Given the description of an element on the screen output the (x, y) to click on. 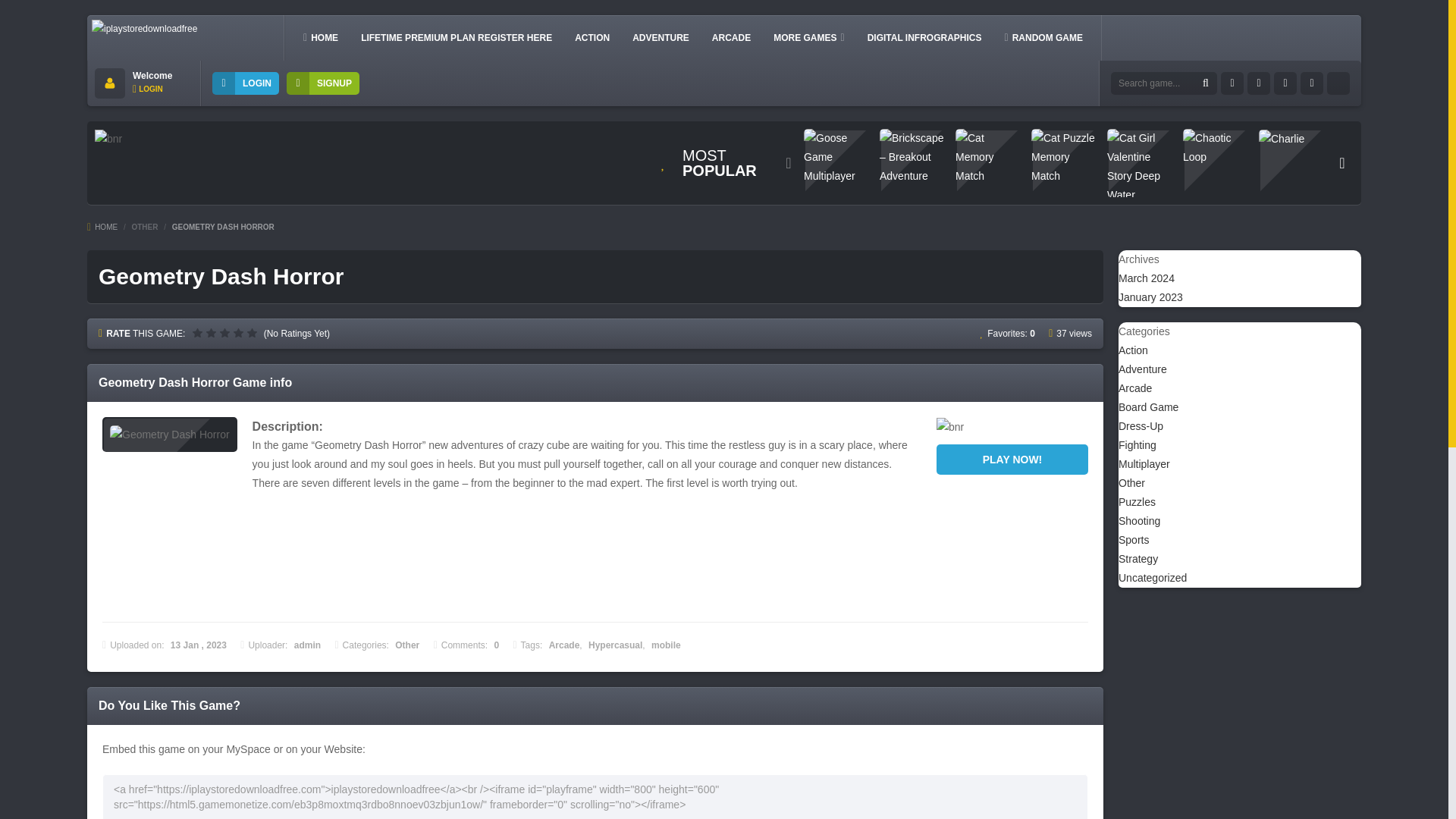
MORE GAMES (808, 37)
LOGIN (147, 89)
ADVENTURE (660, 37)
Facebook (1232, 83)
LOGIN (245, 83)
LIFETIME PREMIUM PLAN REGISTER HERE (456, 37)
ACTION (592, 37)
Instagram (1285, 83)
Feed (1337, 83)
DIGITAL INFROGRAPHICS (925, 37)
